Given the description of an element on the screen output the (x, y) to click on. 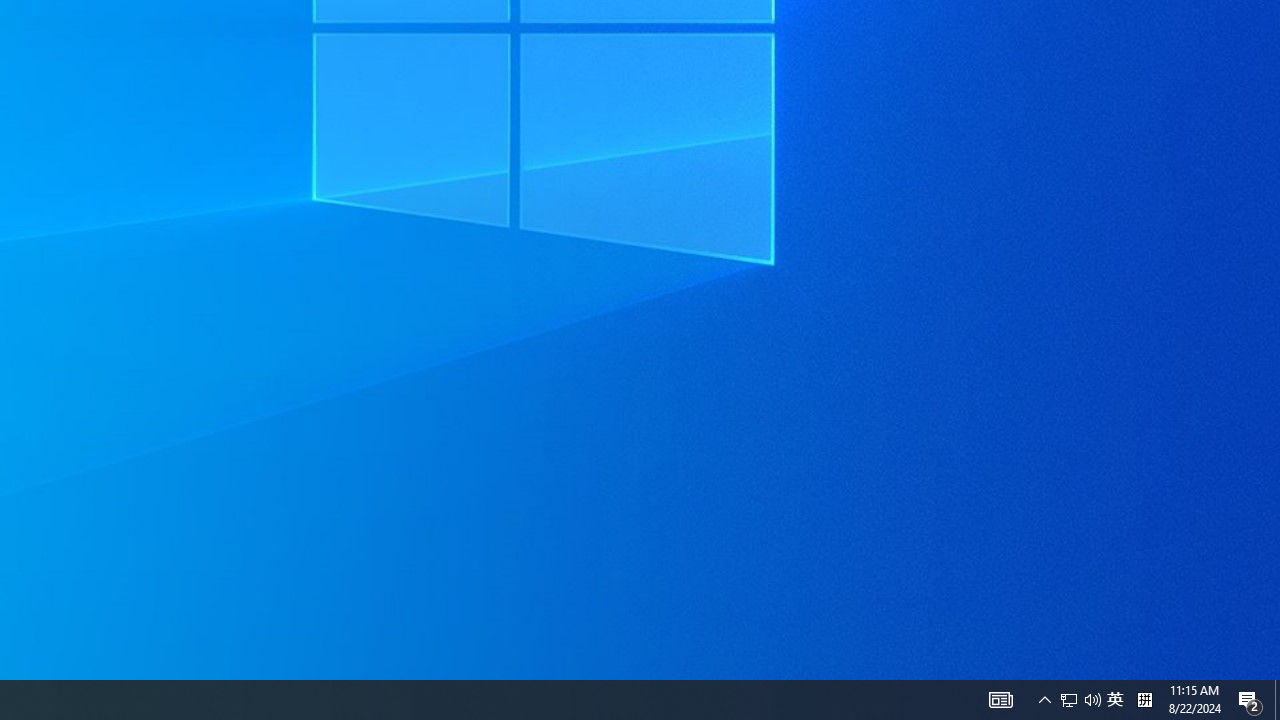
Q2790: 100% (1092, 699)
User Promoted Notification Area (1080, 699)
Action Center, 2 new notifications (1250, 699)
Show desktop (1277, 699)
AutomationID: 4105 (1000, 699)
Notification Chevron (1044, 699)
Tray Input Indicator - Chinese (Simplified, China) (1069, 699)
